Given the description of an element on the screen output the (x, y) to click on. 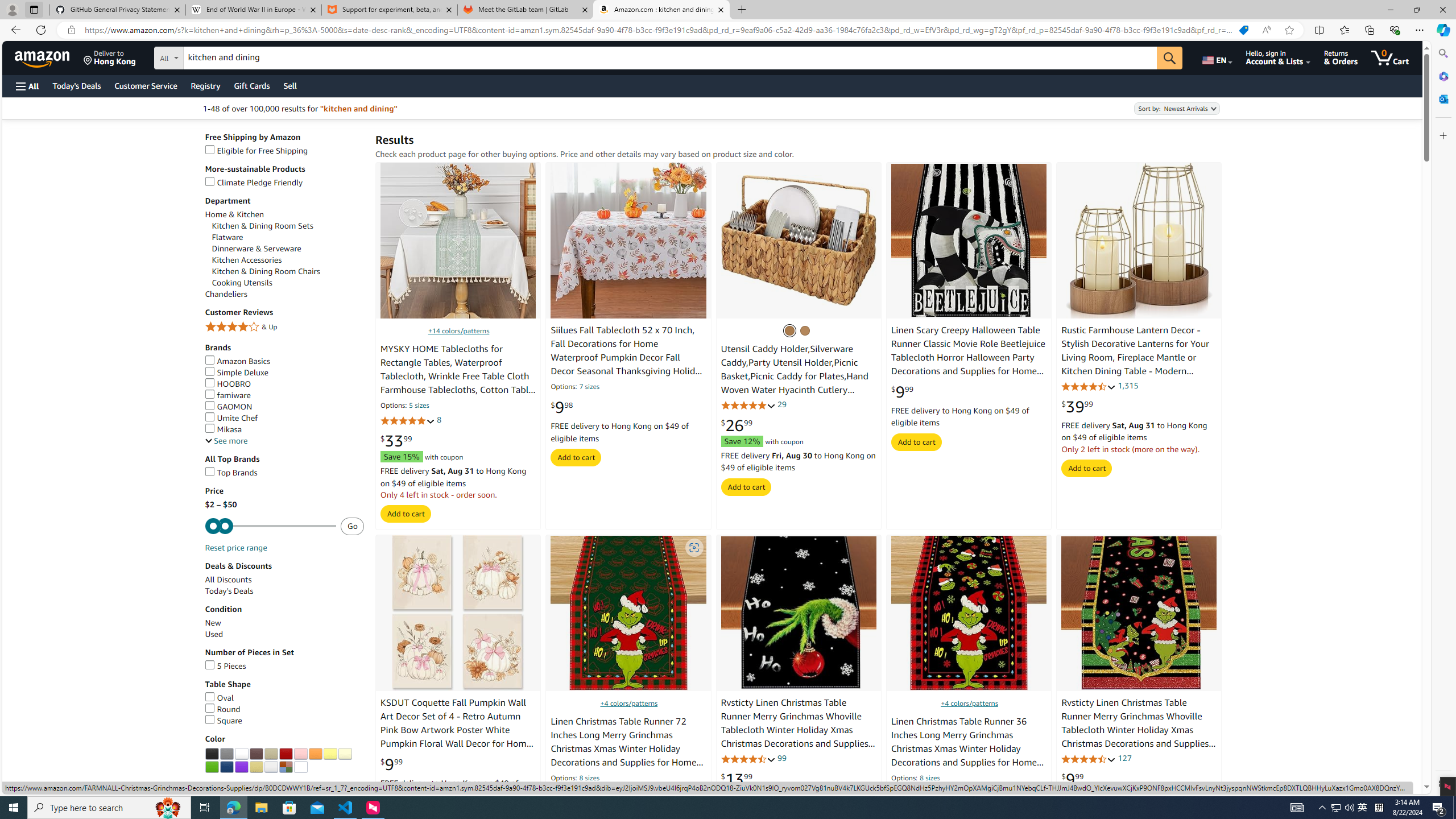
Go - Submit price range (352, 525)
Returns & Orders (1340, 57)
HOOBRO (284, 384)
Square (223, 720)
4.7 out of 5 stars (918, 793)
127 (1124, 757)
Round (222, 708)
745 (614, 792)
Amazon Basics (237, 360)
Ivory (344, 753)
GAOMON (228, 406)
Mikasa (223, 428)
